Given the description of an element on the screen output the (x, y) to click on. 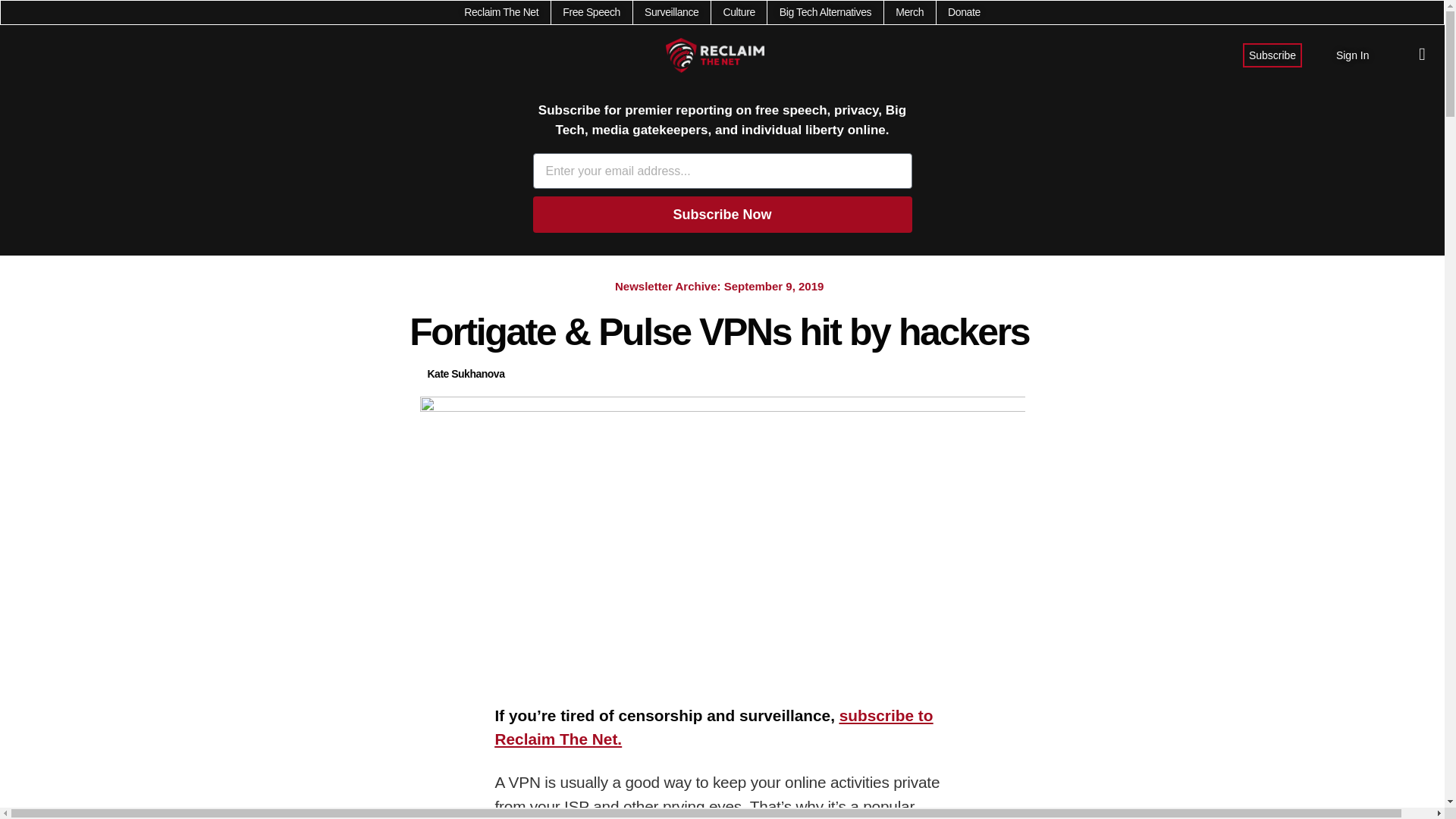
Donate (963, 12)
subscribe to Reclaim The Net. (714, 726)
Subscribe Now (721, 214)
Kate Sukhanova (466, 374)
Subscribe (1272, 55)
Merch (909, 12)
Free Speech (591, 12)
Culture (738, 12)
Big Tech Alternatives (824, 12)
Surveillance (671, 12)
Reclaim The Net (501, 12)
Sign In (1353, 55)
